Given the description of an element on the screen output the (x, y) to click on. 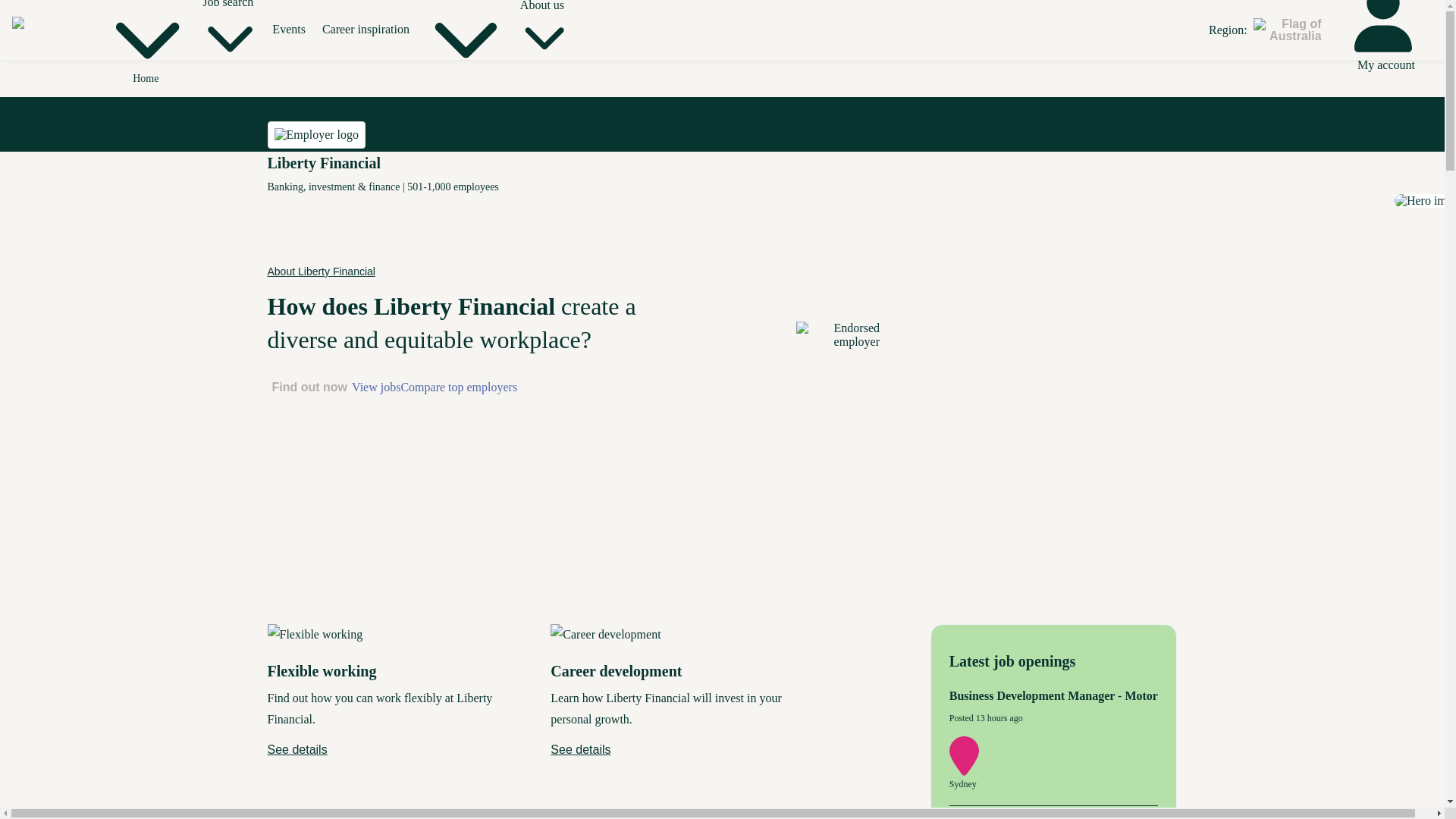
Location (966, 772)
Events (288, 29)
For employers (463, 38)
Career inspiration (365, 29)
View jobs (376, 386)
About Liberty Financial (320, 271)
Top employers (144, 38)
Home (145, 78)
Find out now (309, 386)
